Given the description of an element on the screen output the (x, y) to click on. 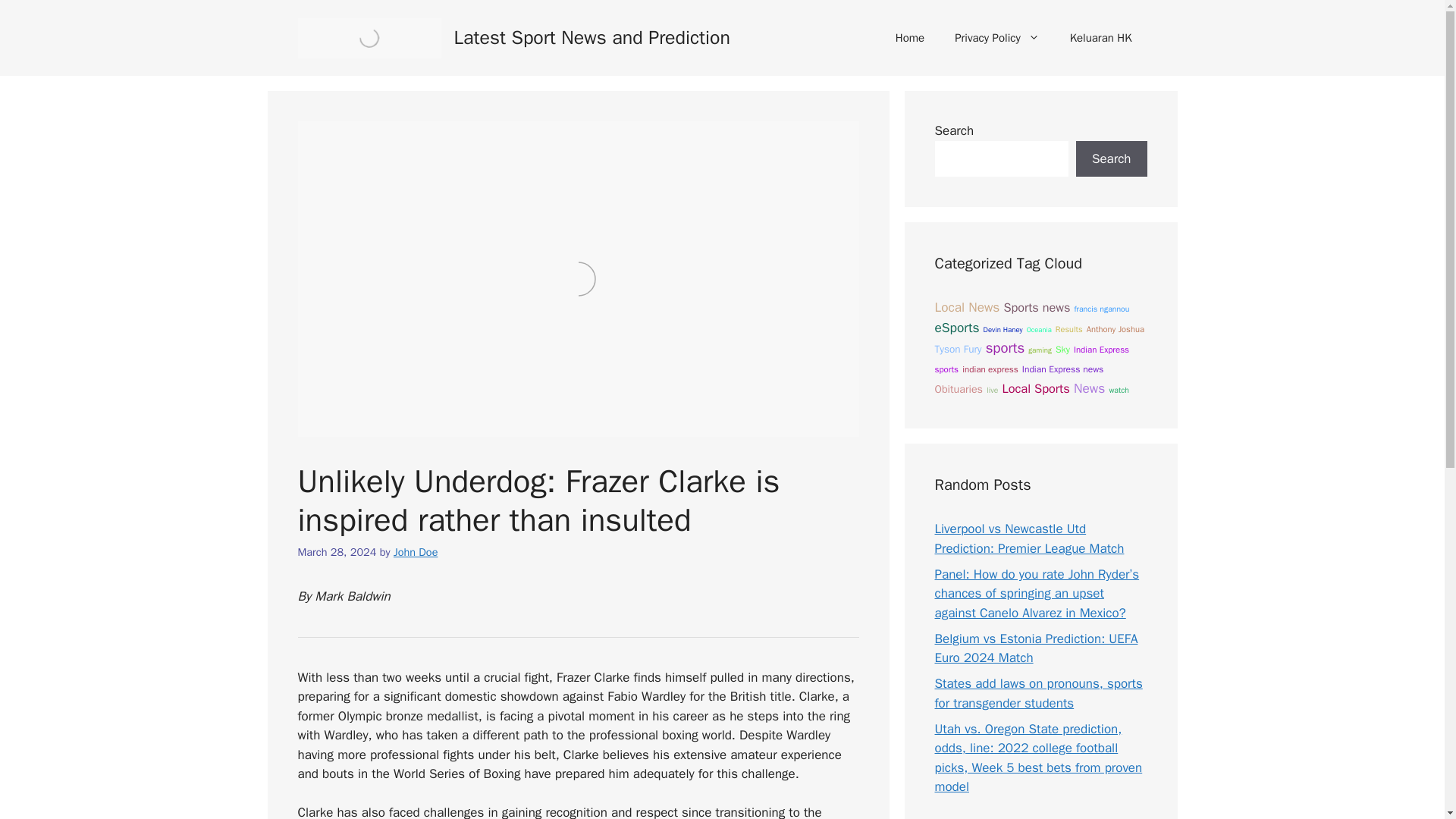
Keluaran HK (1100, 37)
live (992, 389)
Results (1069, 329)
News (1089, 388)
Indian Express sports (1031, 358)
sports (1005, 348)
John Doe (415, 551)
Sports news (1036, 307)
Devin Haney (1003, 329)
Indian Express news (1062, 369)
gaming (1039, 349)
Latest Sport News and Prediction (590, 37)
Obituaries (958, 388)
Sky (1062, 349)
Local News (966, 306)
